Given the description of an element on the screen output the (x, y) to click on. 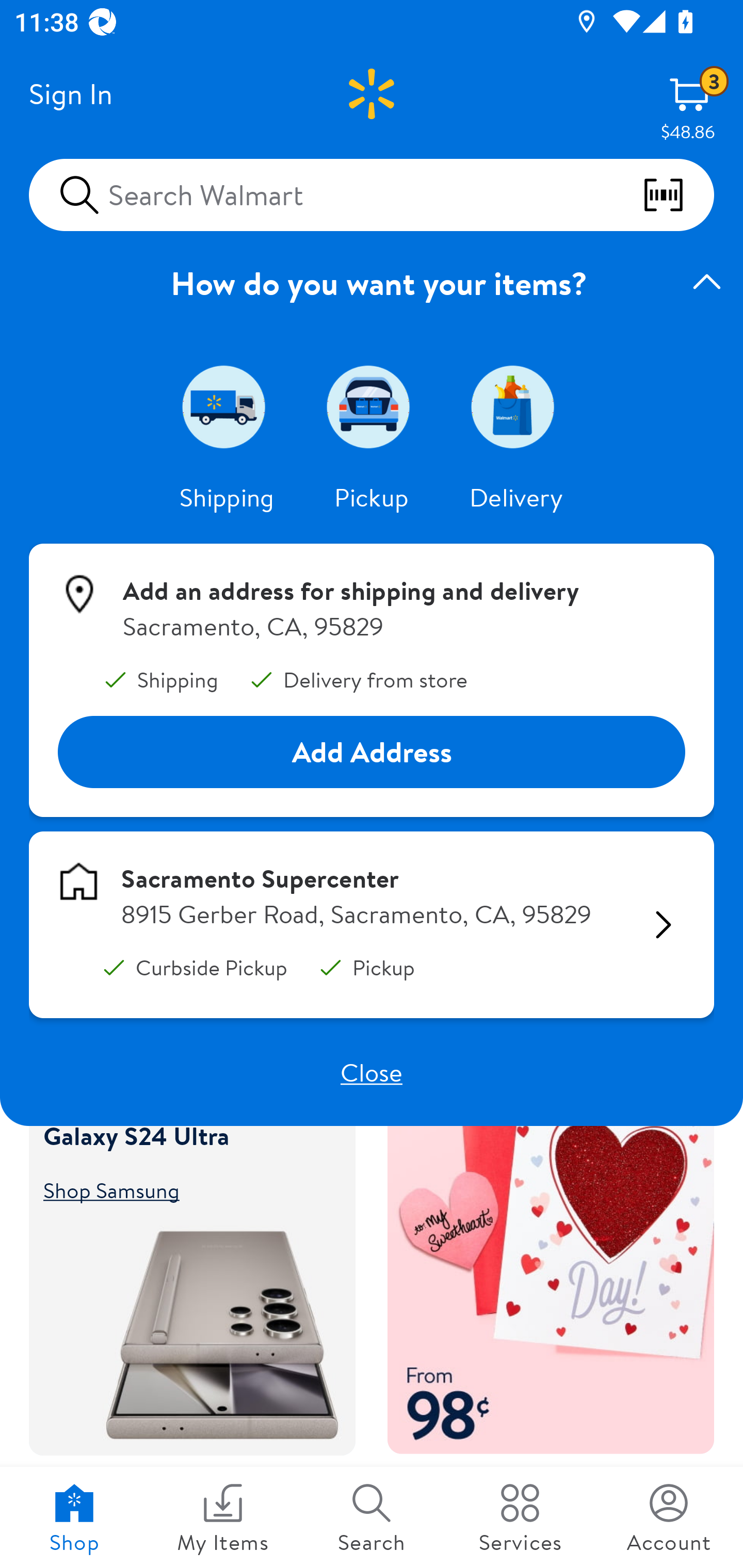
Sign In (70, 93)
Search Walmart scan barcodes qr codes and more (371, 194)
scan barcodes qr codes and more (677, 195)
How do you want your items? expanded (371, 282)
Shipping 1 of 3 (226, 406)
Pickup 2 of 3 (371, 406)
Delivery 3 of 3 (515, 406)
Add Address (371, 752)
Close (371, 1072)
Shop Samsung Shop Samsung Galaxy S24 Ultra (183, 1190)
My Items (222, 1517)
Search (371, 1517)
Services (519, 1517)
Account (668, 1517)
